Given the description of an element on the screen output the (x, y) to click on. 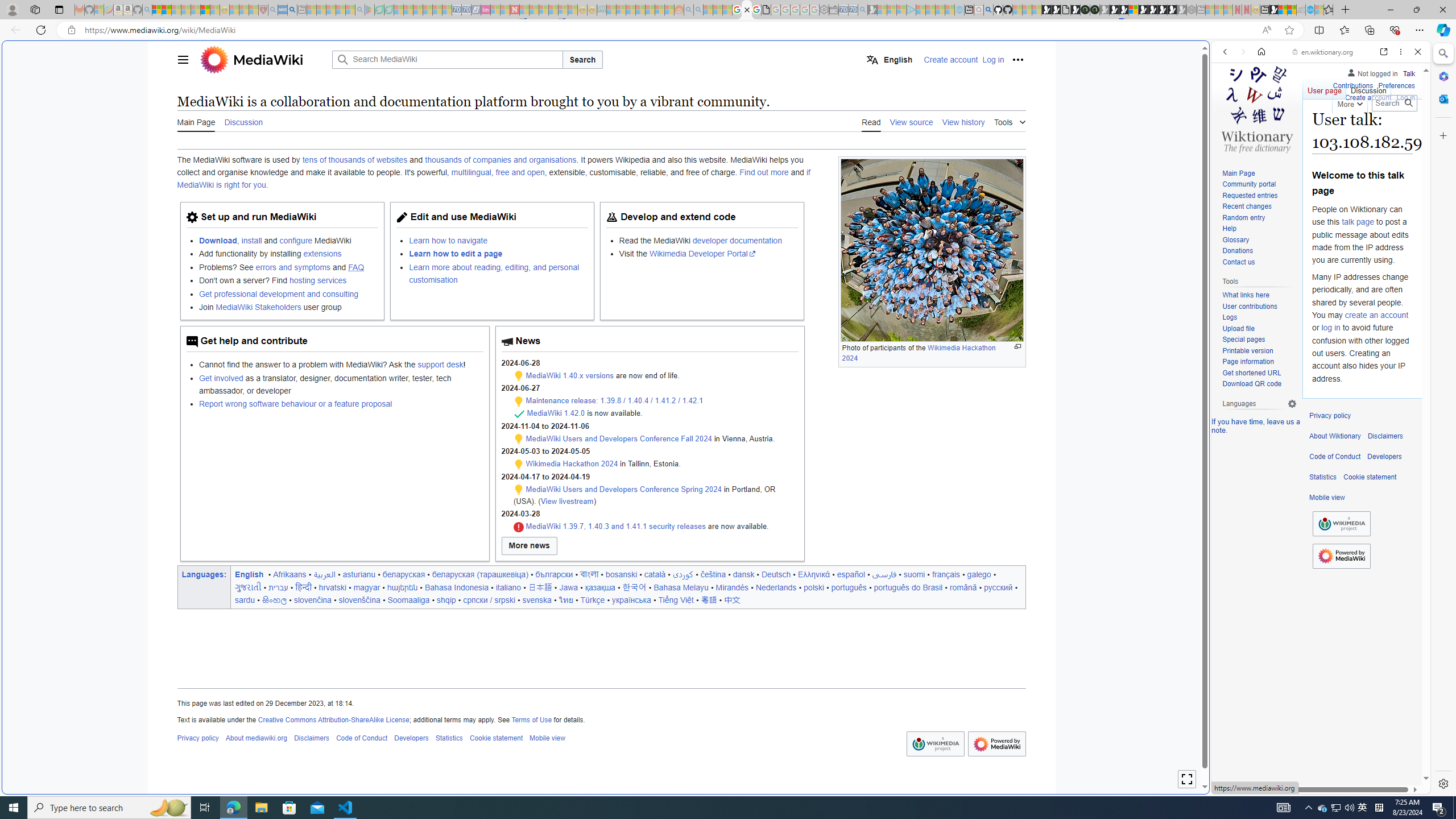
italiano (508, 587)
Settings - Sleeping (823, 9)
AutomationID: footer-poweredbyico (1341, 555)
